Given the description of an element on the screen output the (x, y) to click on. 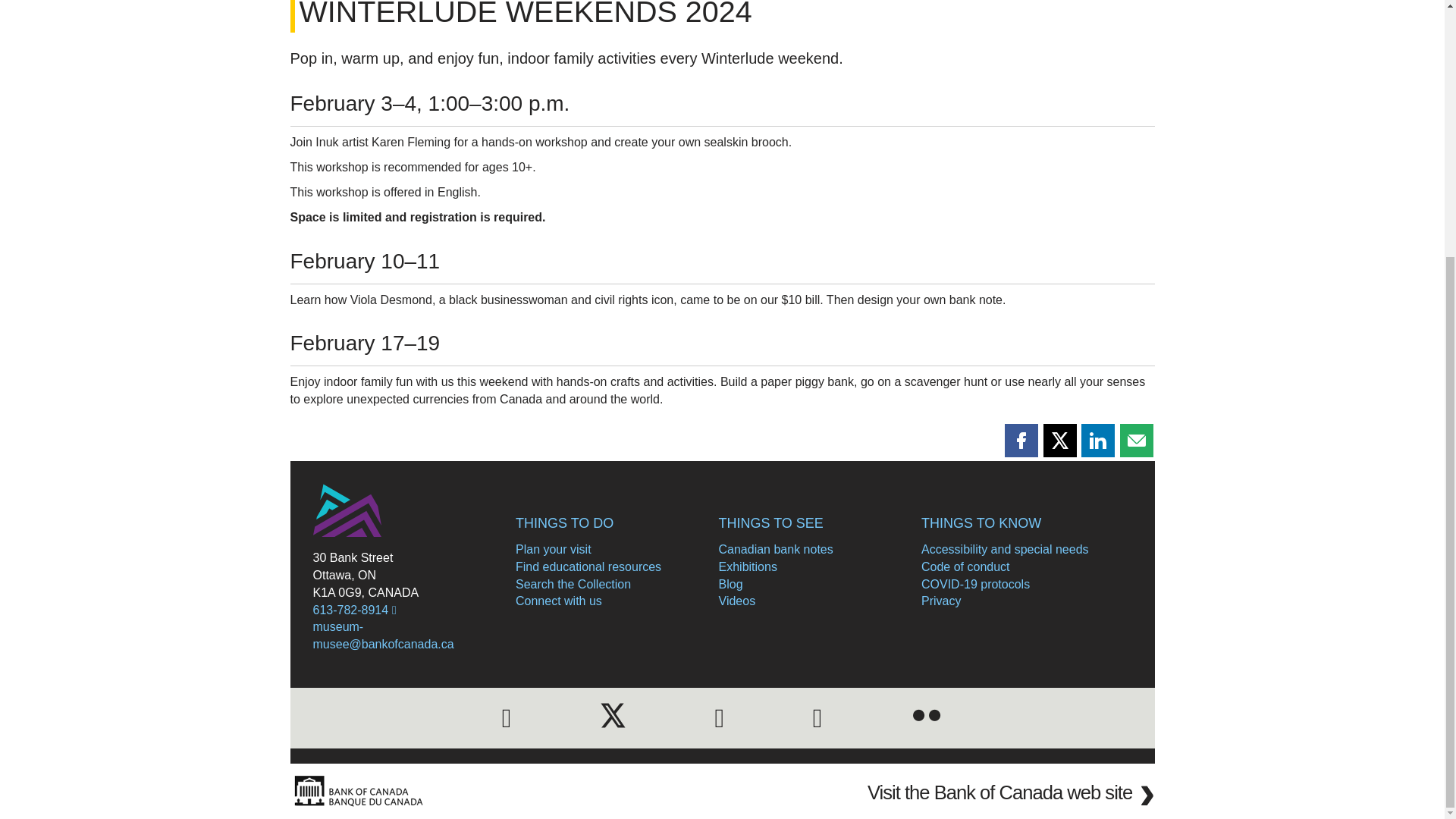
Share this page on LinkedIn (1098, 440)
Share this page by email (1136, 440)
Share this page on X (1060, 440)
Share this page on Facebook (1021, 440)
